Given the description of an element on the screen output the (x, y) to click on. 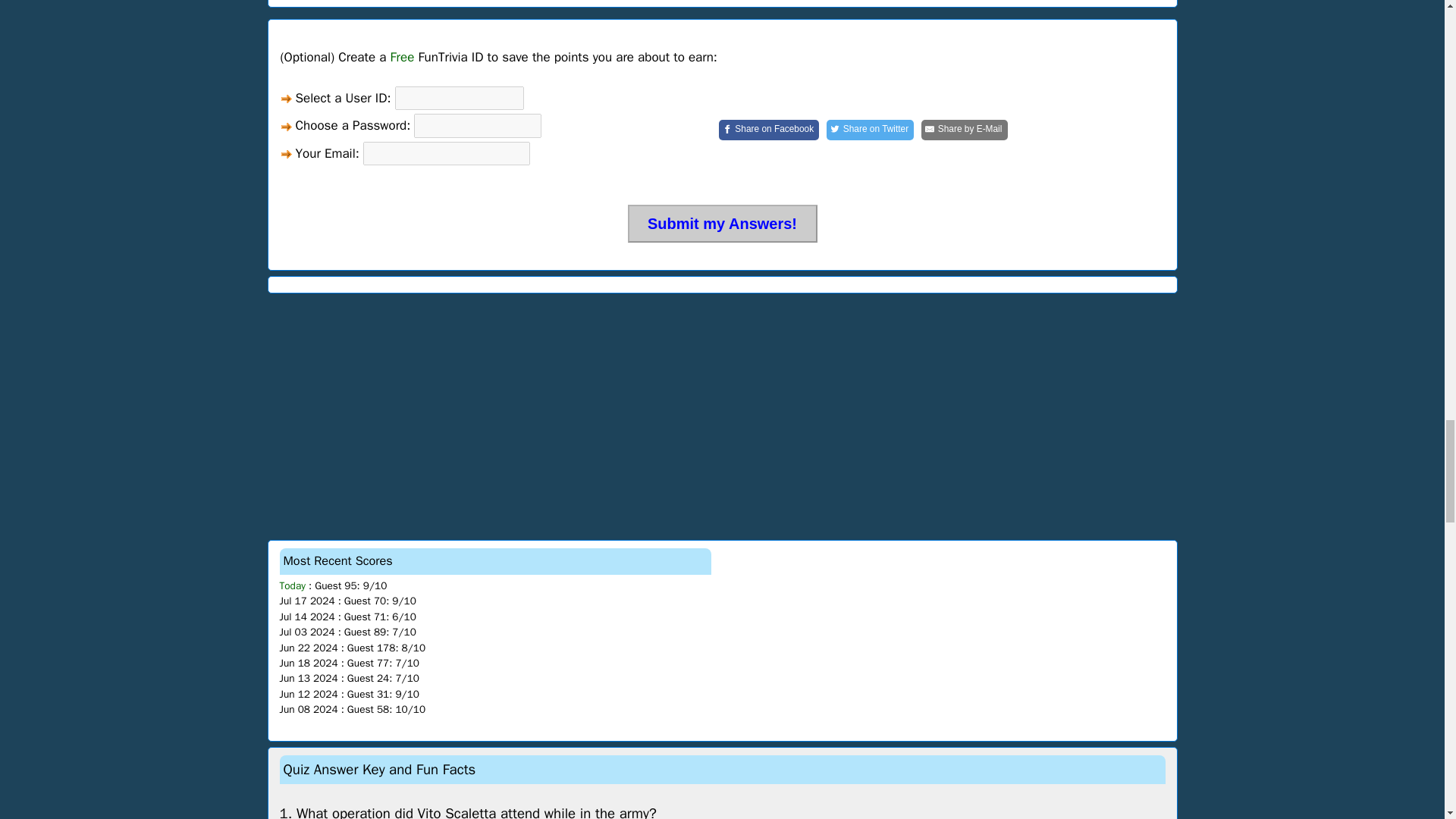
Submit my Answers! (721, 223)
